Given the description of an element on the screen output the (x, y) to click on. 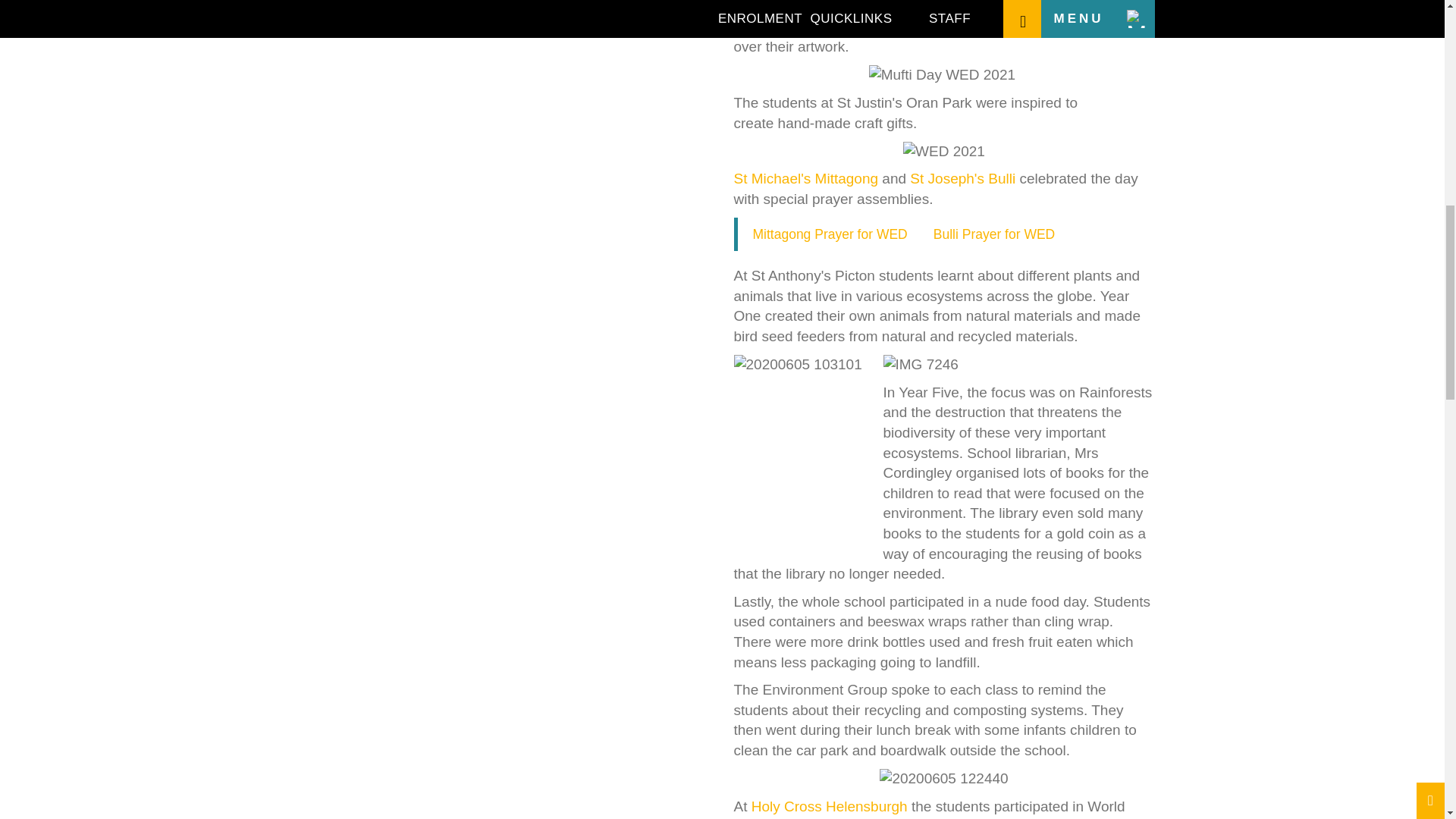
St Michael's Mittagong WED Prayer (829, 233)
St Michael's Mittagong (806, 178)
Holy Cross Helensburgh (829, 806)
St Joseph's Bulli (962, 178)
St Joseph's WED Prayer (993, 233)
